Given the description of an element on the screen output the (x, y) to click on. 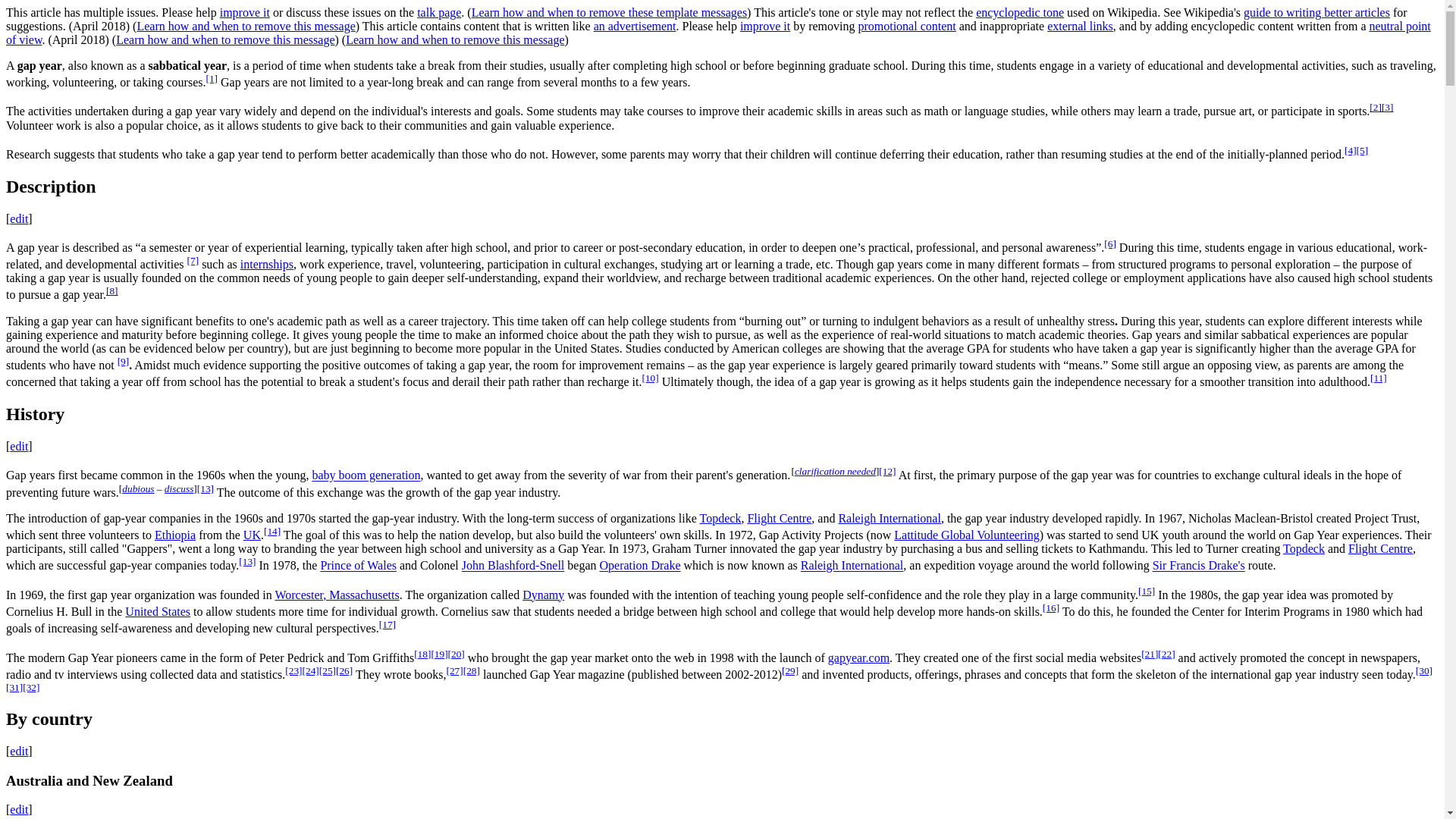
Topdeck (720, 517)
clarification needed (835, 471)
Flight Centre (778, 517)
Learn how and when to remove this message (225, 39)
Baby boomers (365, 475)
Dynamy (543, 594)
promotional content (906, 25)
Charles, Prince of Wales (358, 565)
baby boom generation (365, 475)
Ethiopia (174, 534)
Learn how and when to remove these template messages (608, 11)
Flight Centre (1380, 548)
internships (267, 264)
dubious (138, 488)
Operation Drake (638, 565)
